Given the description of an element on the screen output the (x, y) to click on. 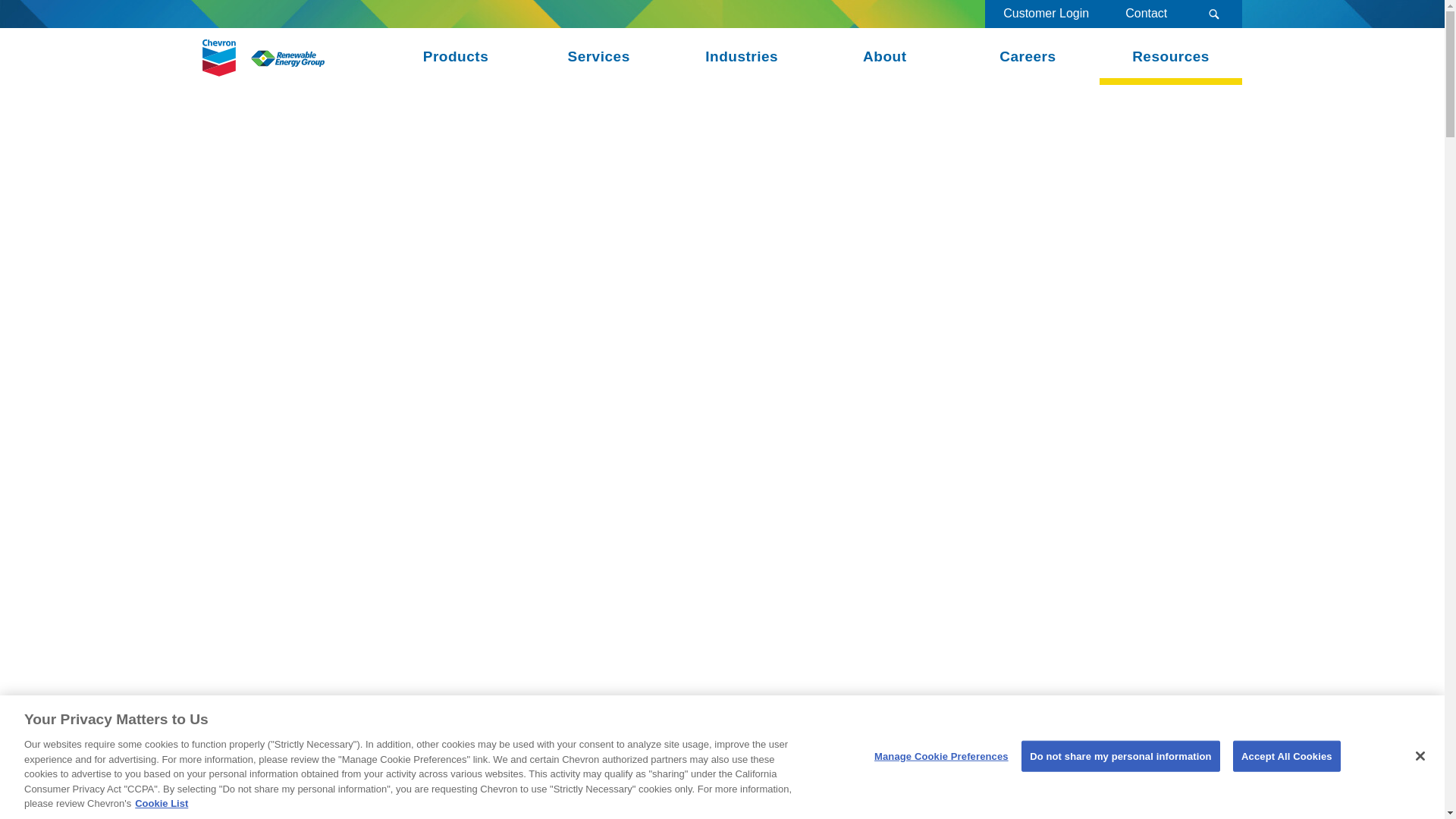
Search Button (1213, 14)
Customer Login (1045, 13)
Contact (1145, 13)
Renewable Energy Group. Link to homepage (263, 56)
Services (598, 56)
Search (1213, 14)
Products (455, 56)
